Given the description of an element on the screen output the (x, y) to click on. 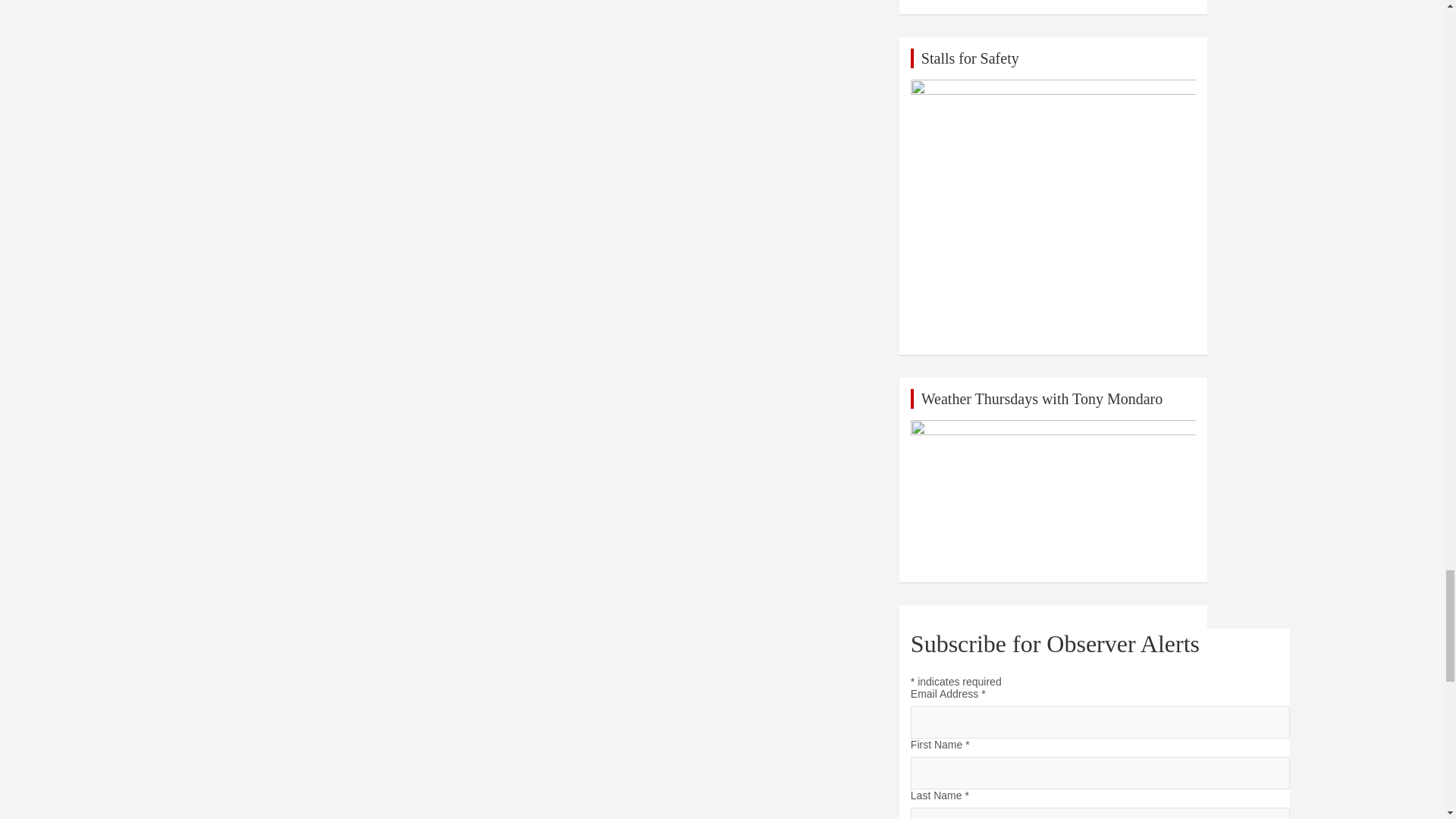
Erick Roofing (1053, 211)
